Given the description of an element on the screen output the (x, y) to click on. 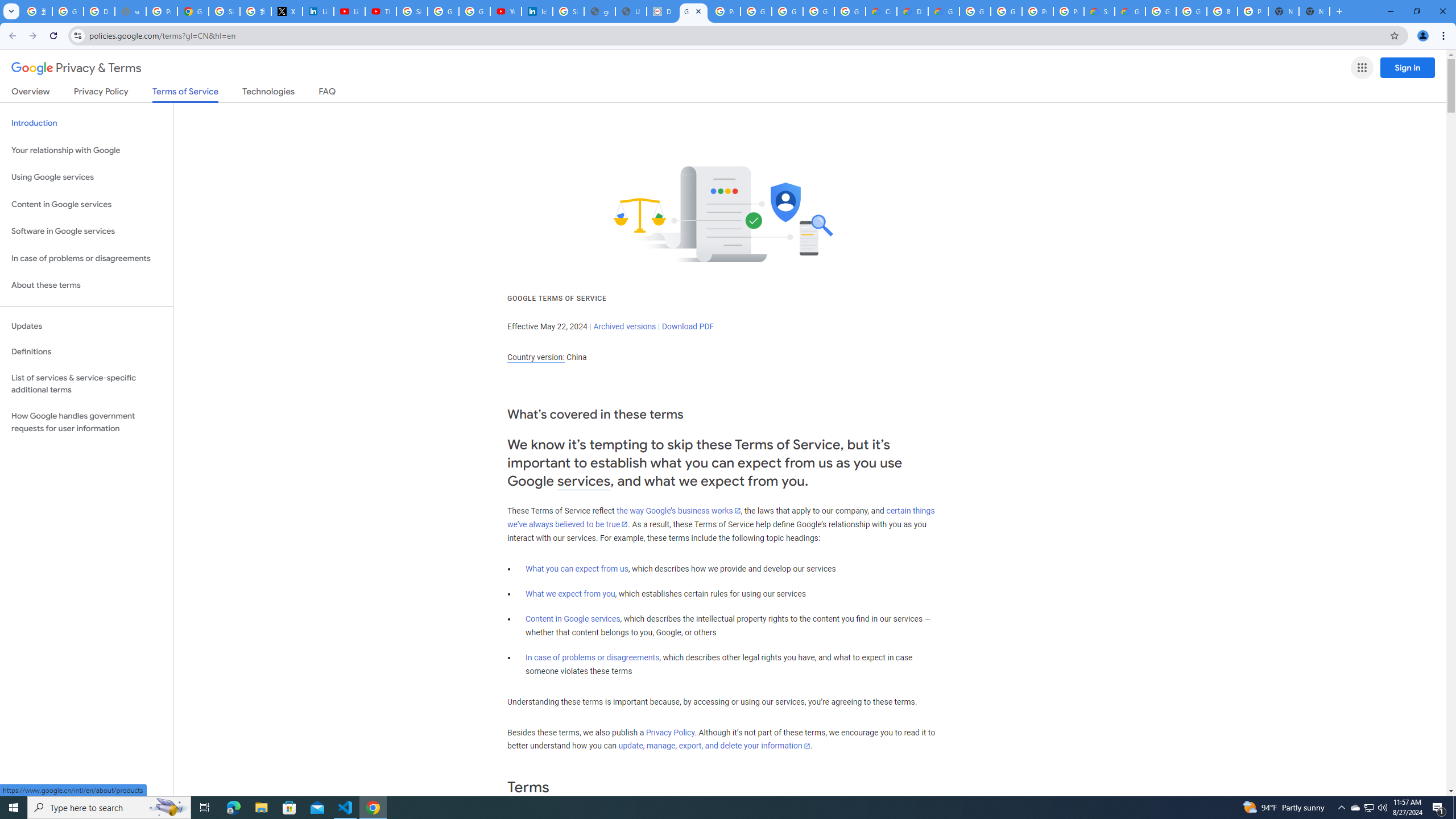
Customer Care | Google Cloud (881, 11)
Your relationship with Google (86, 150)
Google Cloud Service Health (1129, 11)
Using Google services (86, 176)
Google Cloud Platform (1005, 11)
Gemini for Business and Developers | Google Cloud (943, 11)
Data Privacy Framework (662, 11)
